Given the description of an element on the screen output the (x, y) to click on. 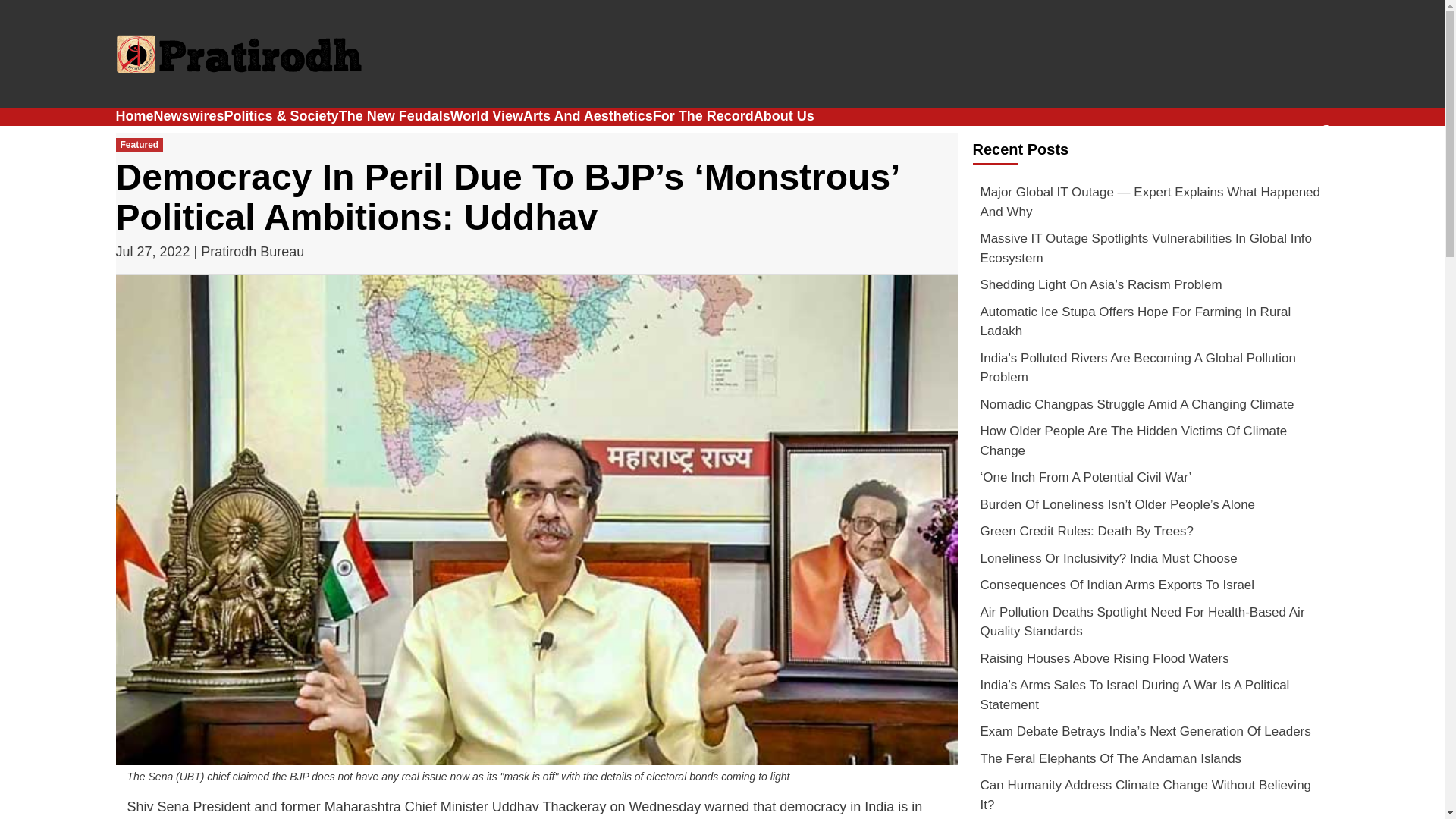
The New Feudals (394, 115)
About Us (783, 115)
Nomadic Changpas Struggle Amid A Changing Climate (1149, 407)
For The Record (703, 115)
Newswires (189, 115)
World View (485, 115)
Featured (139, 144)
Arts And Aesthetics (587, 115)
Home (133, 115)
Automatic Ice Stupa Offers Hope For Farming In Rural Ladakh (1149, 325)
